Given the description of an element on the screen output the (x, y) to click on. 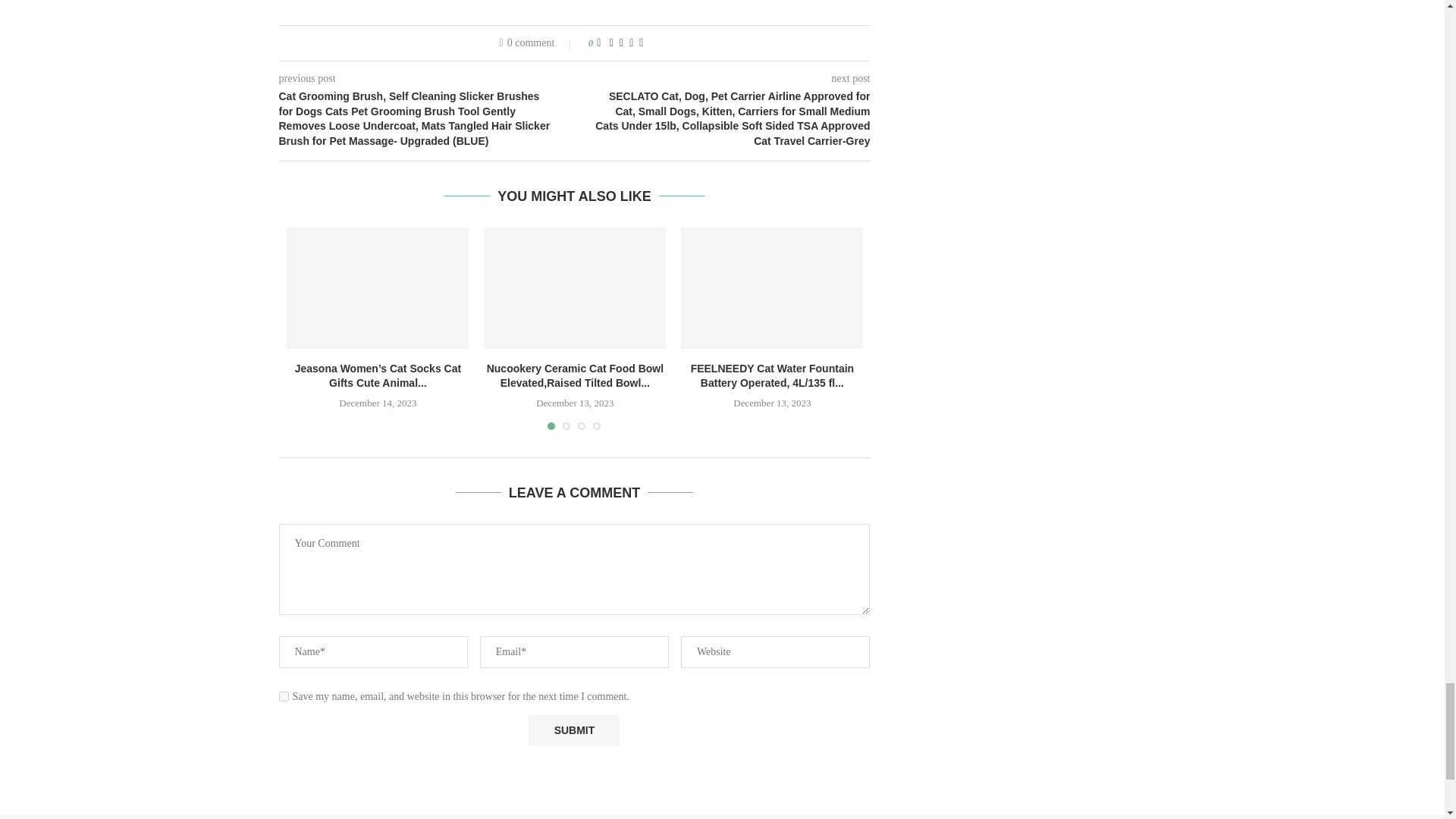
Submit (574, 730)
yes (283, 696)
